Given the description of an element on the screen output the (x, y) to click on. 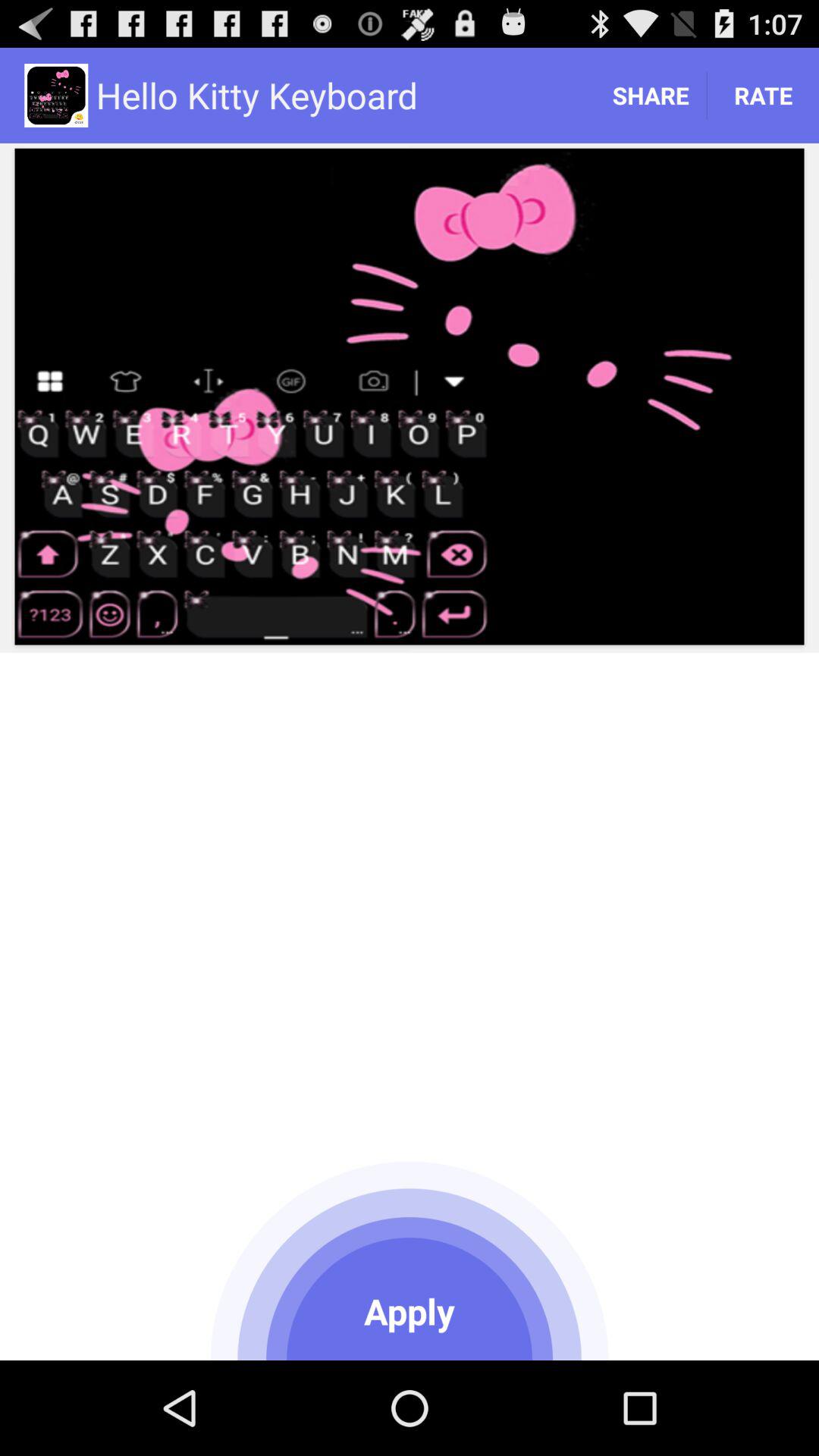
apply here (409, 1257)
